Given the description of an element on the screen output the (x, y) to click on. 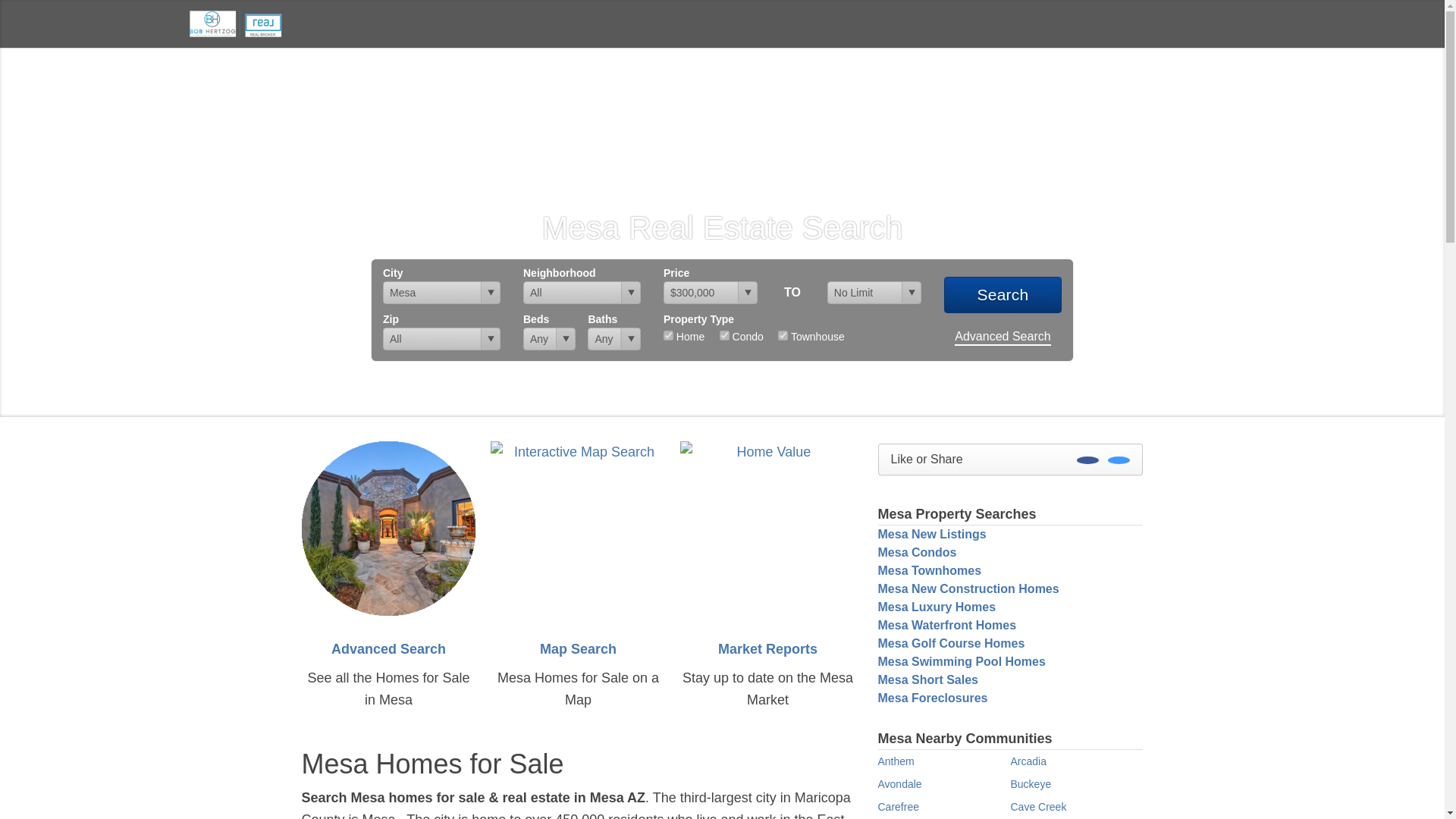
Search (1002, 294)
Search (1002, 294)
Homes for Sale in Mesa (388, 527)
Map Search (577, 648)
con (724, 335)
Advanced Search (388, 648)
Homes for Sale in Mesa (388, 648)
twn (782, 335)
Mesa Real Estate Market Report (766, 648)
Mesa Map Search (577, 527)
Mesa Map Search (577, 648)
Advanced Search (1002, 337)
Phoenix Homes for Sale (236, 23)
Market Reports (766, 648)
res (667, 335)
